Given the description of an element on the screen output the (x, y) to click on. 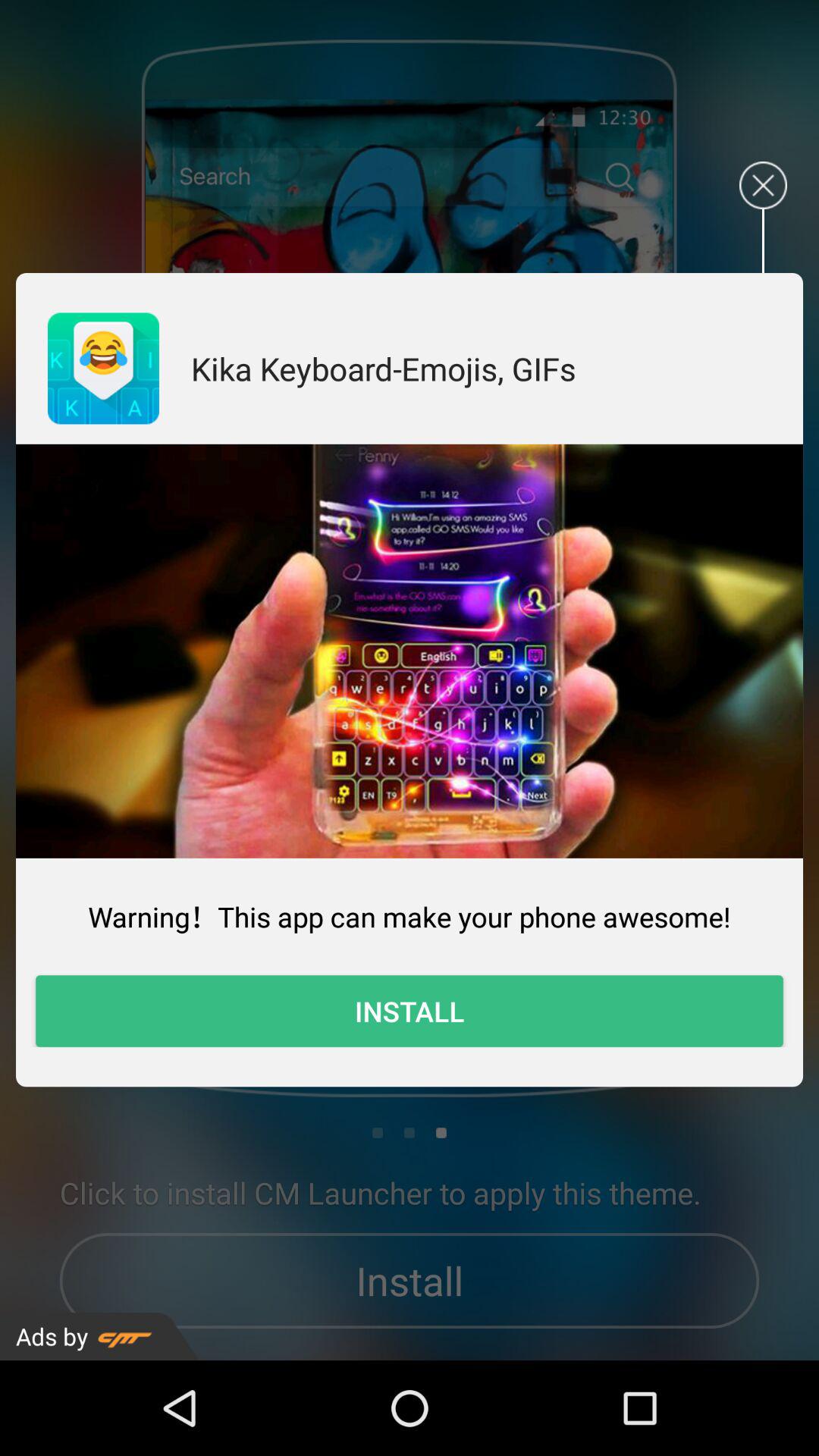
press the icon above the ads by  icon (409, 1011)
